Given the description of an element on the screen output the (x, y) to click on. 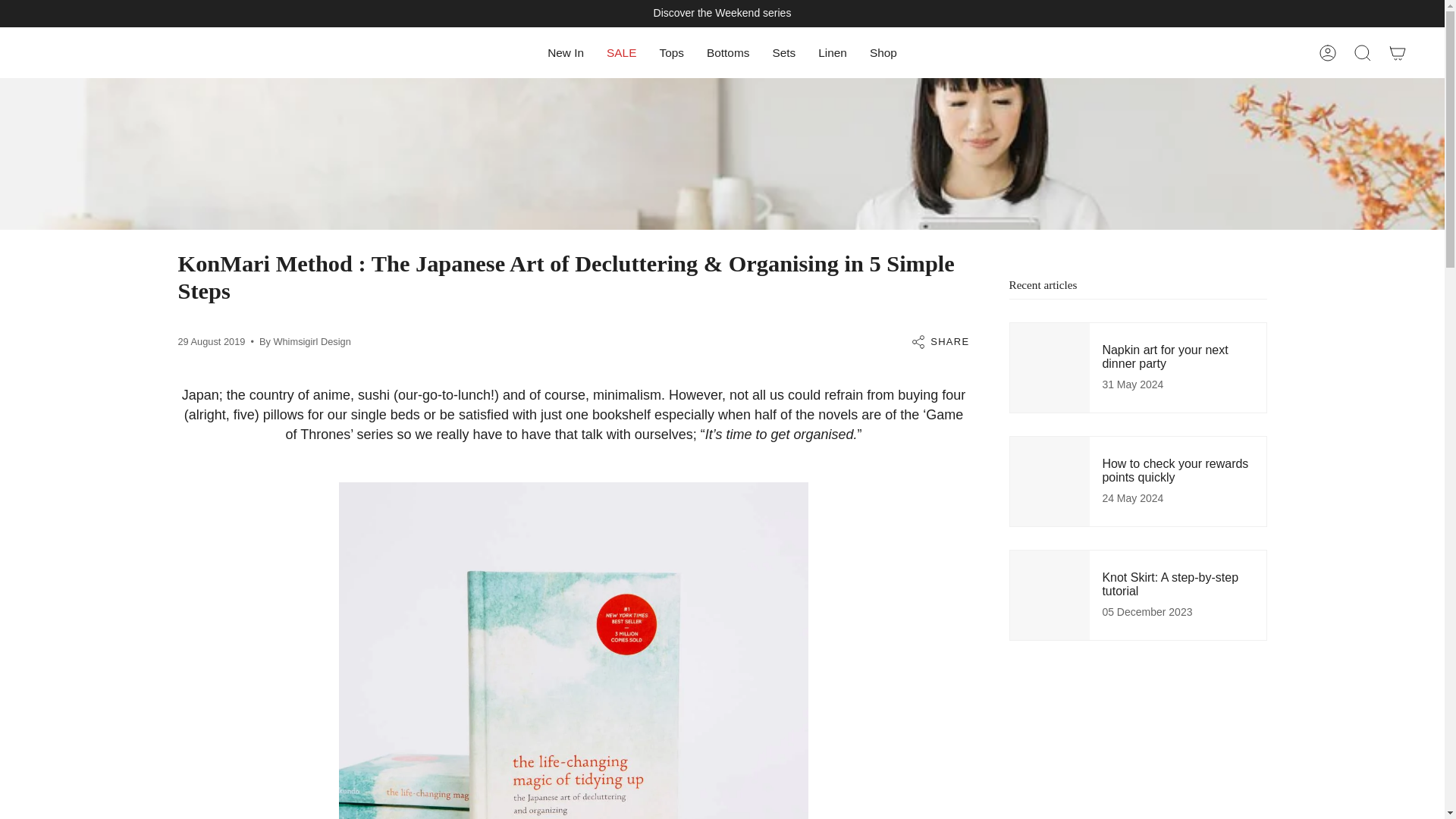
Shop (883, 53)
My Account (1327, 53)
New In (565, 53)
Linen (832, 53)
Sets (783, 53)
Search (1362, 53)
Bottoms (727, 53)
Tops (671, 53)
SALE (621, 53)
Cart (1397, 53)
